Given the description of an element on the screen output the (x, y) to click on. 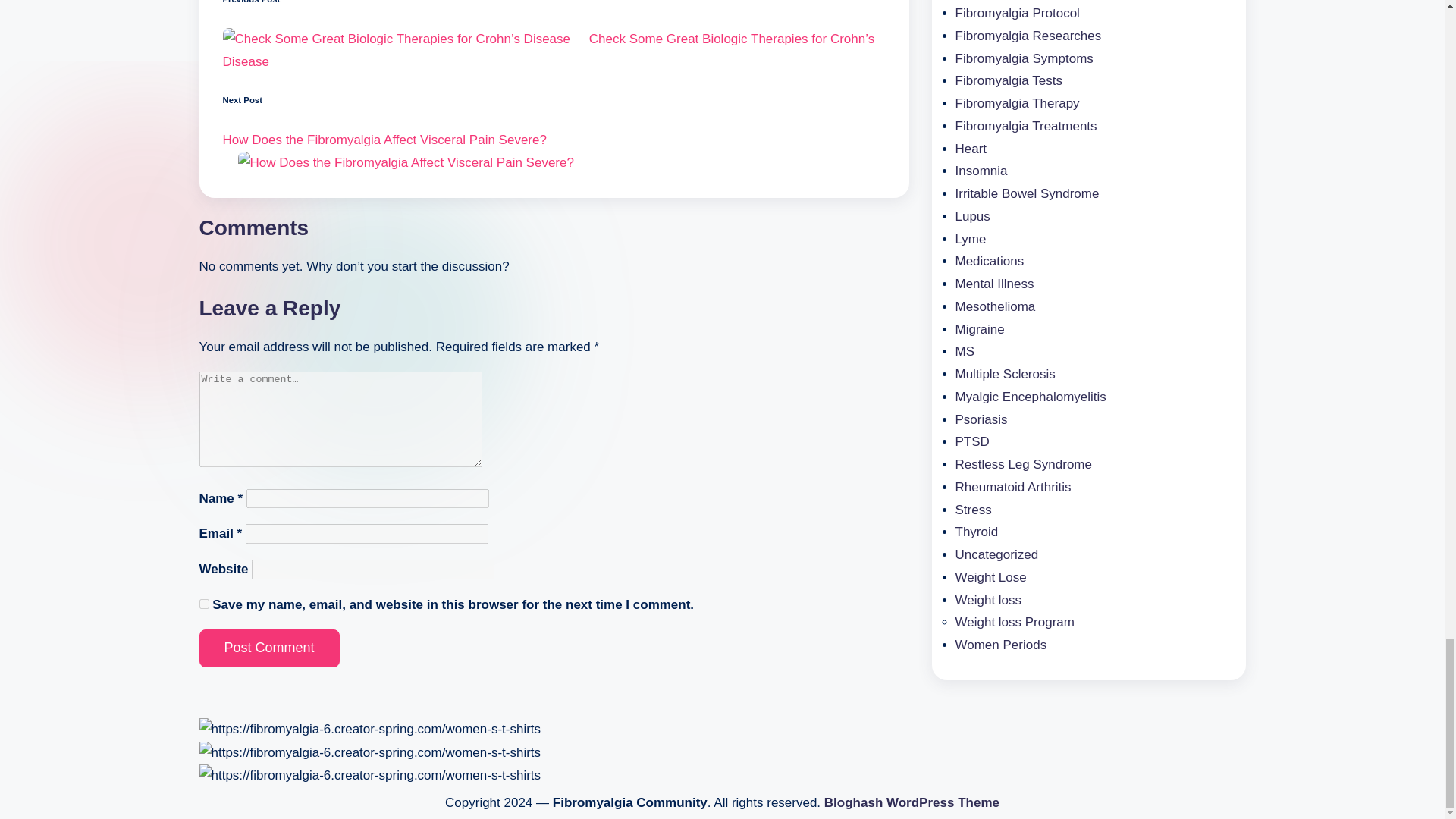
yes (203, 603)
Post Comment (268, 648)
